Given the description of an element on the screen output the (x, y) to click on. 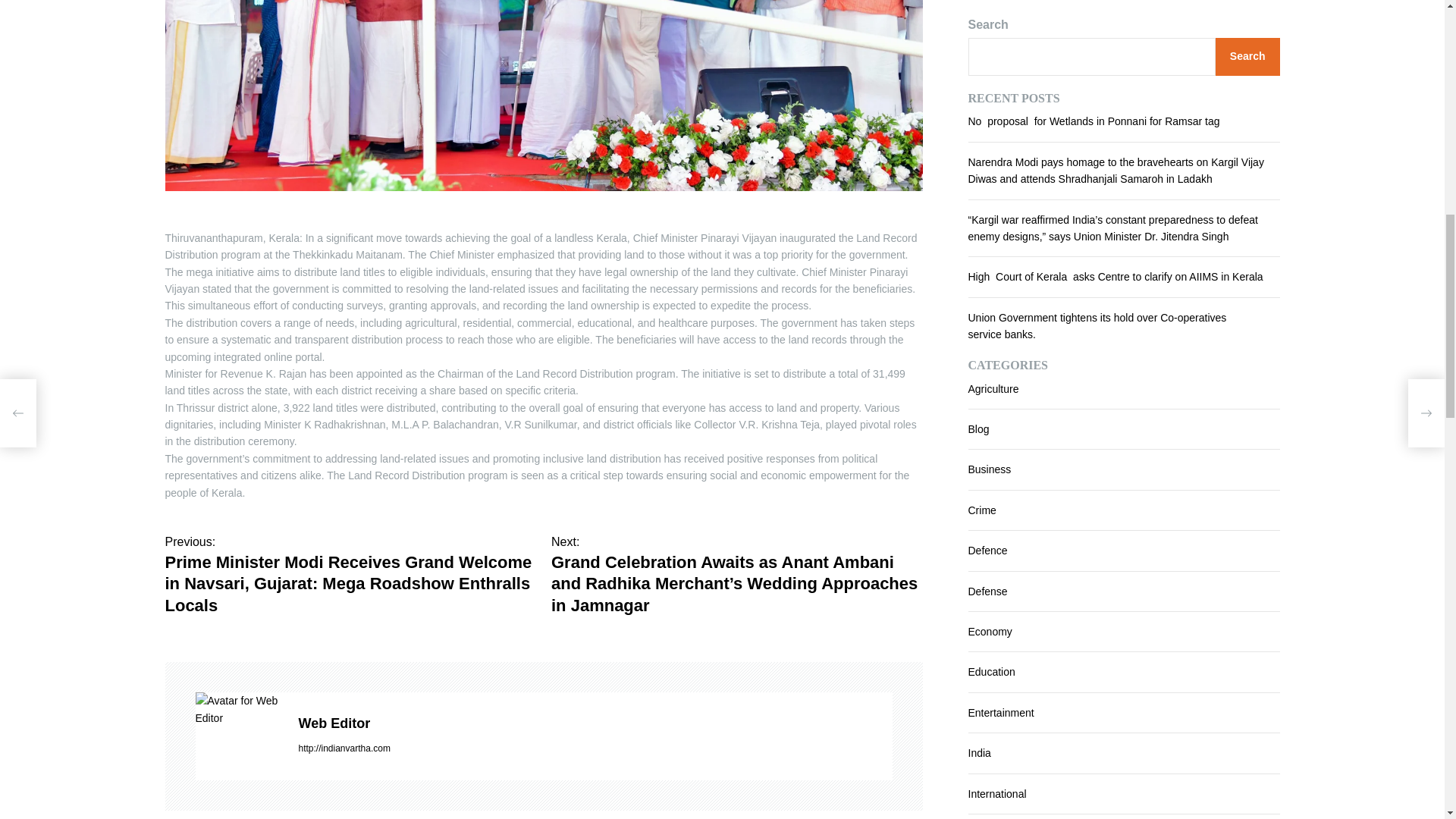
Web Editor (595, 723)
Web Editor (239, 709)
